Given the description of an element on the screen output the (x, y) to click on. 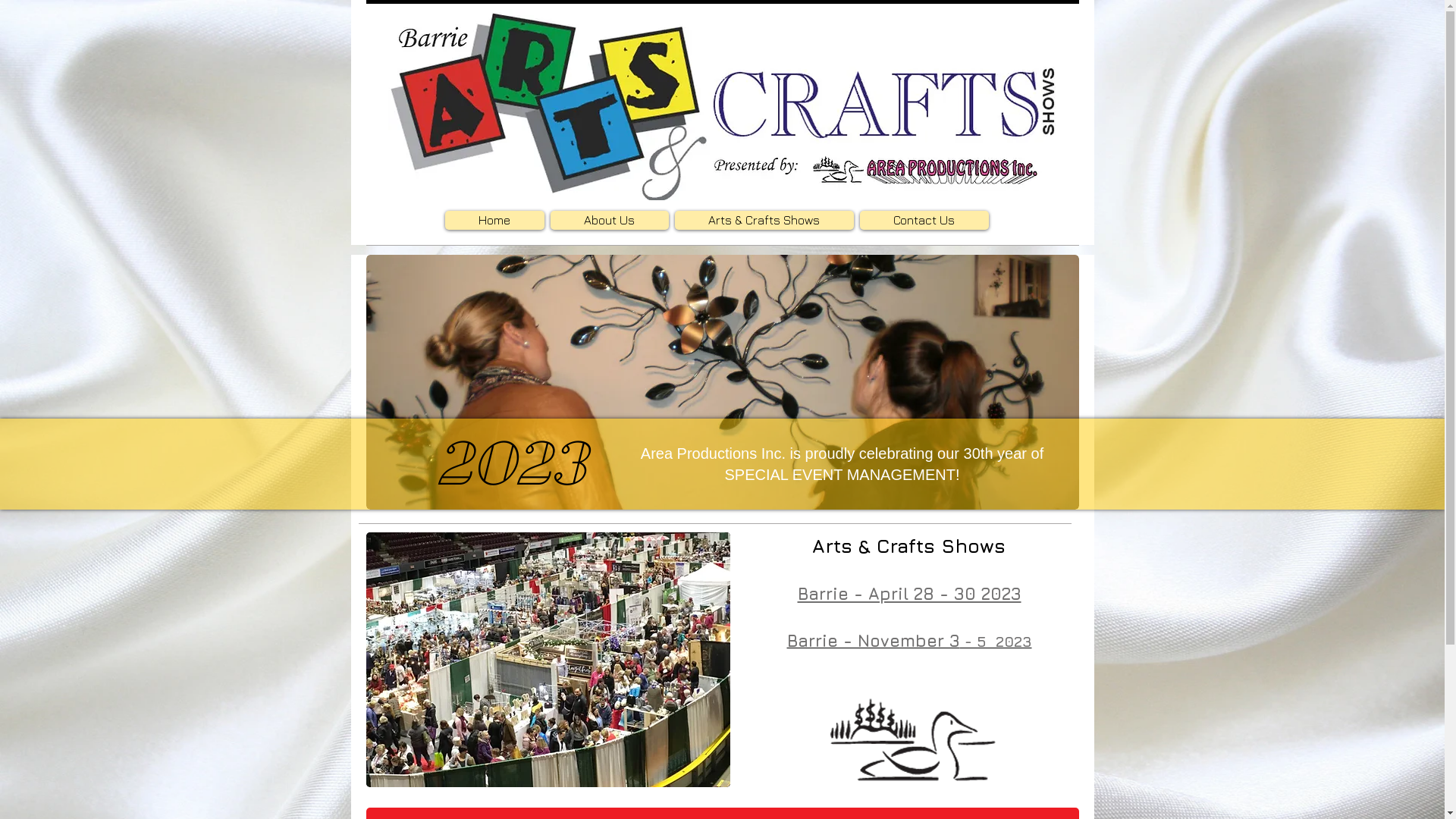
Contact Us Element type: text (923, 219)
Arts & Crafts Shows Element type: text (763, 219)
Barrie - April 28 - 30 2023 Element type: text (909, 593)
About Us Element type: text (609, 219)
Barrie - November 3 - 5  2023 Element type: text (909, 641)
Home Element type: text (493, 219)
